Given the description of an element on the screen output the (x, y) to click on. 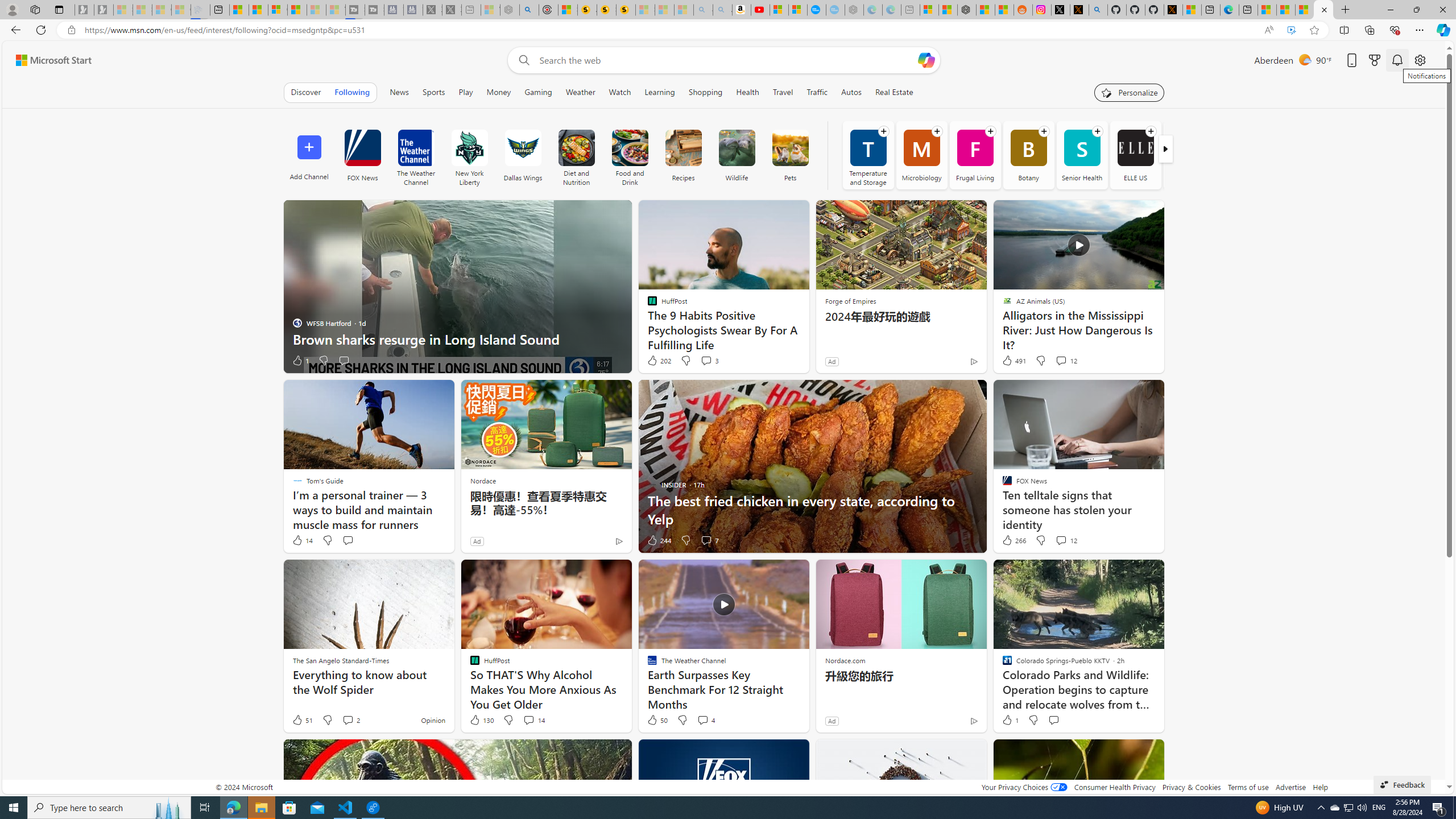
491 Like (1012, 360)
Log in to X / X (1060, 9)
ELLE US (1135, 155)
1 Like (1009, 719)
github - Search (1098, 9)
